Given the description of an element on the screen output the (x, y) to click on. 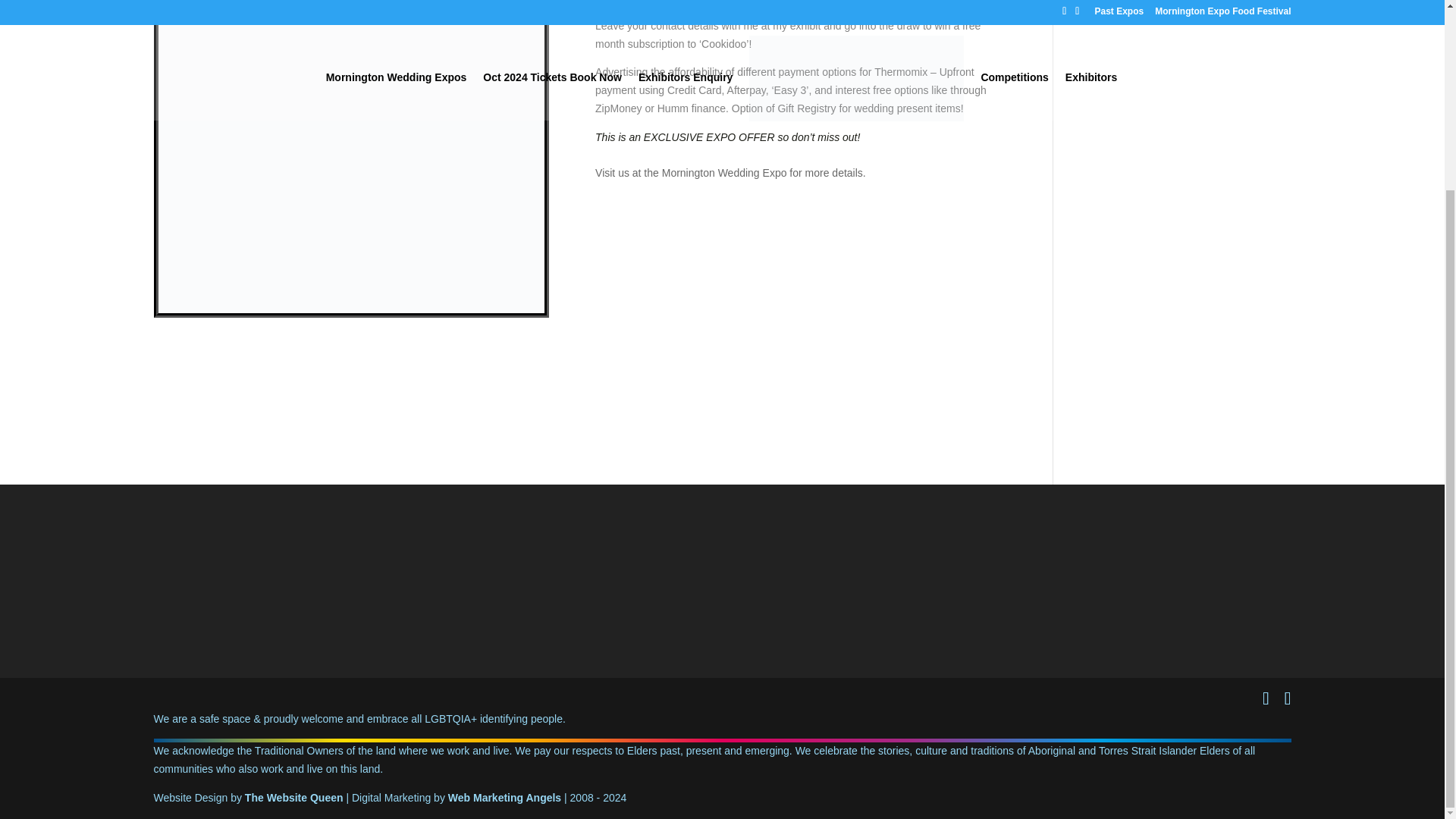
Melbourne Website Design (293, 797)
Mixed Up With Aimee - Exclusive Expo Draw (350, 156)
Mixed Up With Aimee - Exclusive Expo Draw (350, 313)
Melbourne Digital Marketing Services (504, 797)
Web Marketing Angels (504, 797)
The Website Queen (293, 797)
